Given the description of an element on the screen output the (x, y) to click on. 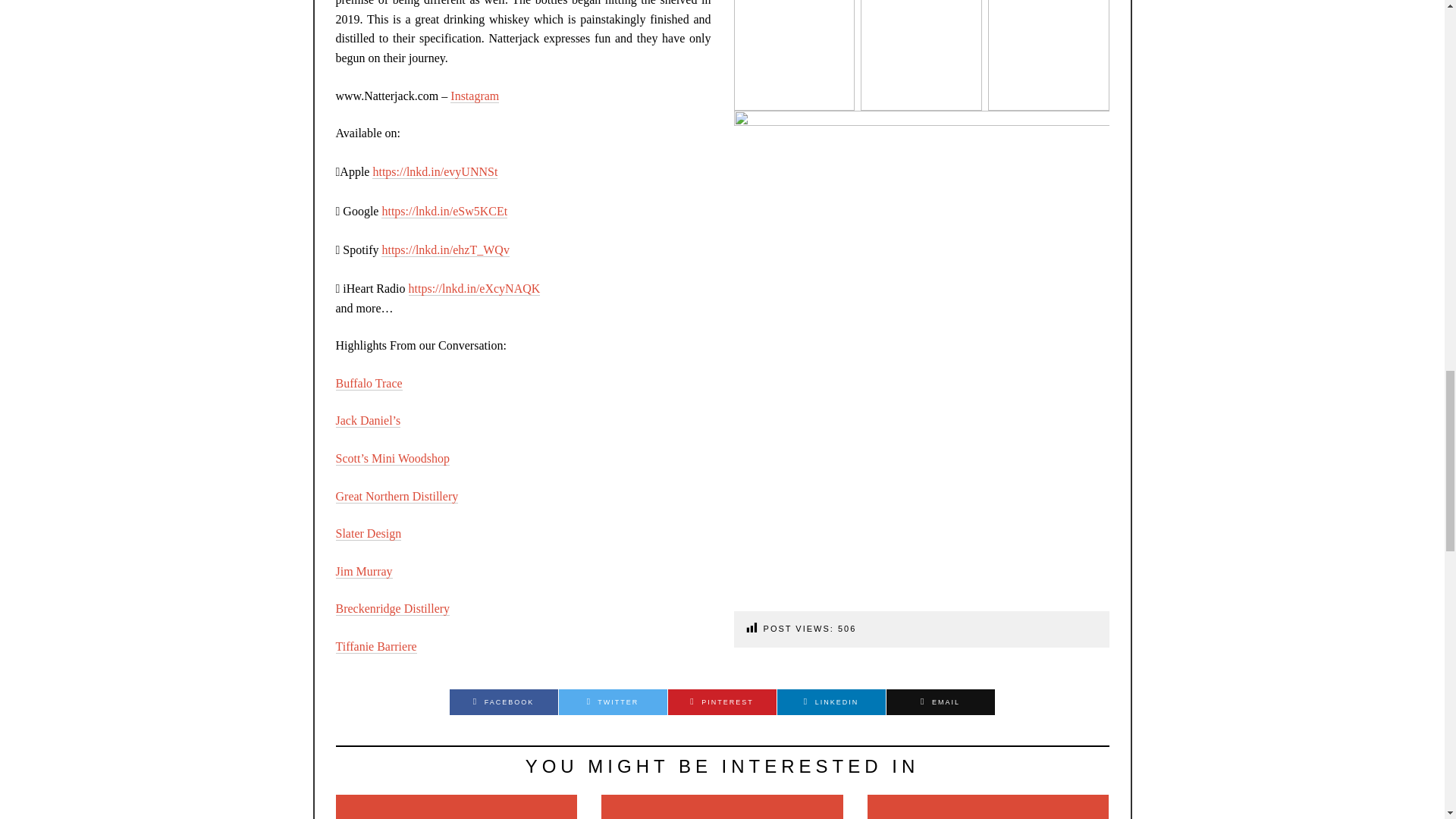
Email (939, 702)
FACEBOOK (502, 702)
Twitter (611, 702)
Linkedin (830, 702)
Pinterest (721, 702)
LINKEDIN (830, 702)
TWITTER (611, 702)
Facebook (502, 702)
PINTEREST (721, 702)
